Given the description of an element on the screen output the (x, y) to click on. 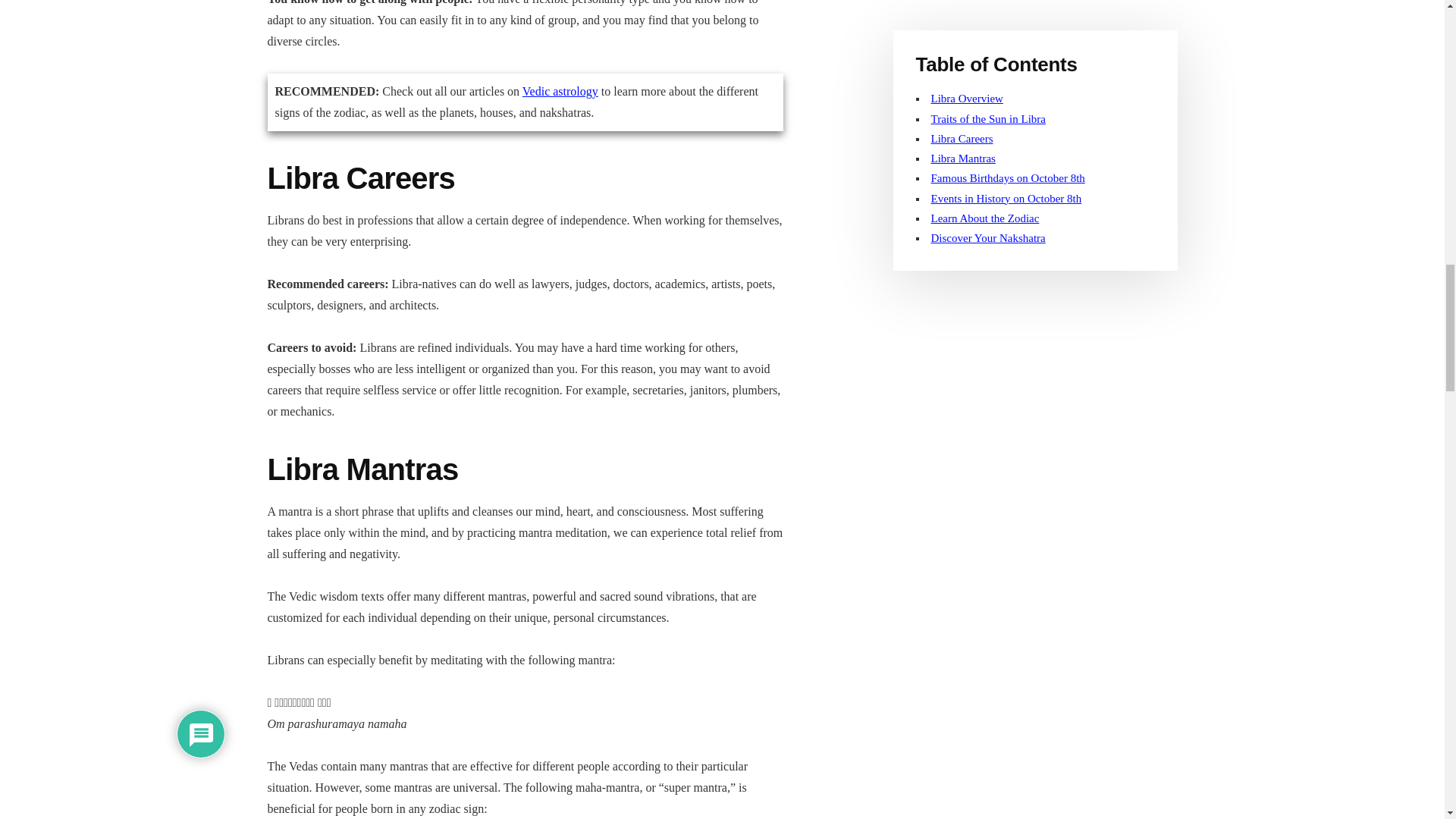
Vedic astrology (560, 91)
